Given the description of an element on the screen output the (x, y) to click on. 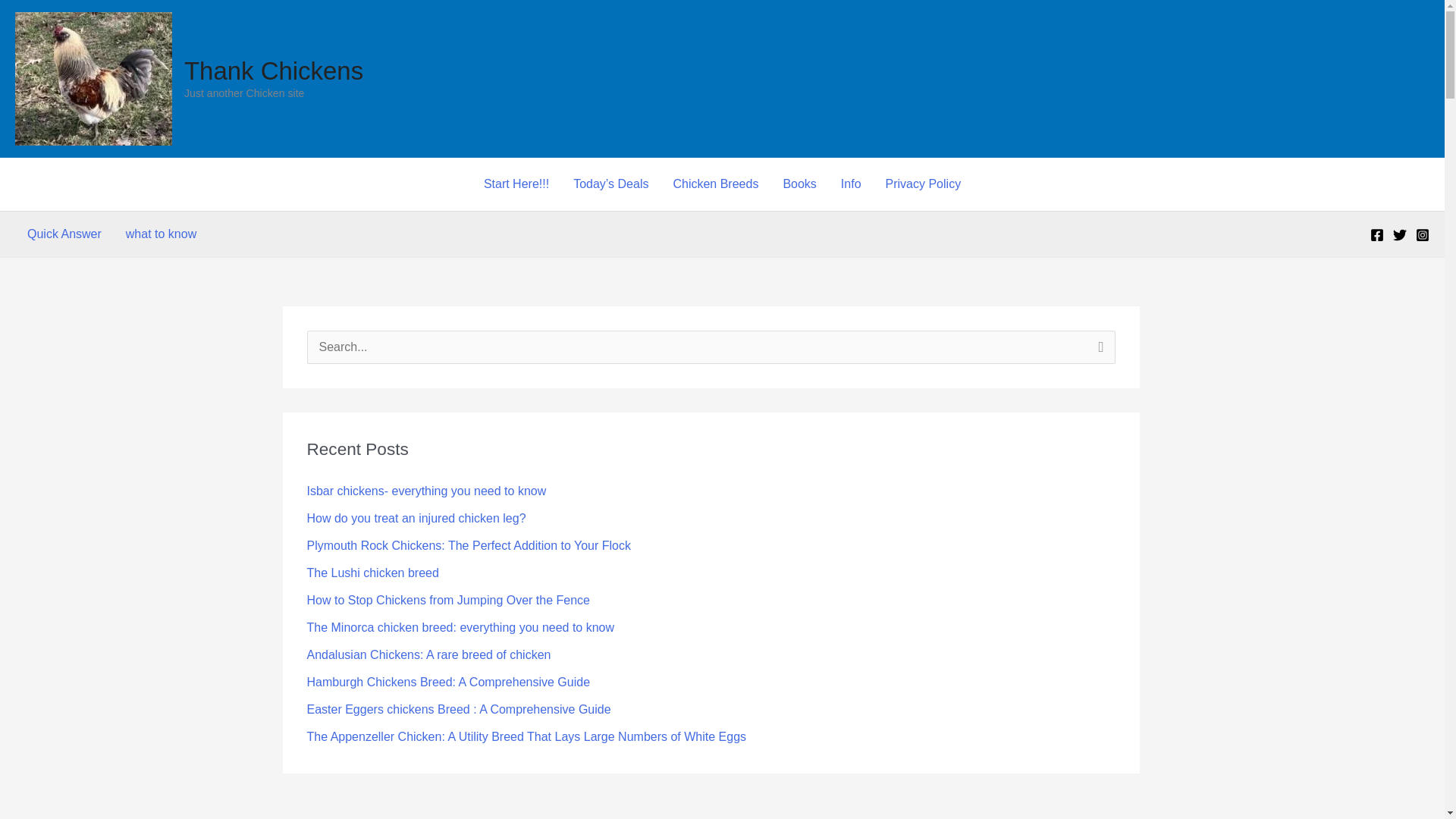
Books (799, 184)
Start Here!!! (515, 184)
Isbar chickens- everything you need to know (425, 490)
Privacy Policy (923, 184)
Plymouth Rock Chickens: The Perfect Addition to Your Flock (467, 545)
Thank Chickens (273, 70)
what to know (160, 234)
The Minorca chicken breed: everything you need to know (459, 626)
Chicken Breeds (715, 184)
How do you treat an injured chicken leg? (415, 517)
The Lushi chicken breed (371, 572)
Quick Answer (63, 234)
Andalusian Chickens: A rare breed of chicken (427, 654)
Easter Eggers chickens Breed : A Comprehensive Guide (457, 708)
